Given the description of an element on the screen output the (x, y) to click on. 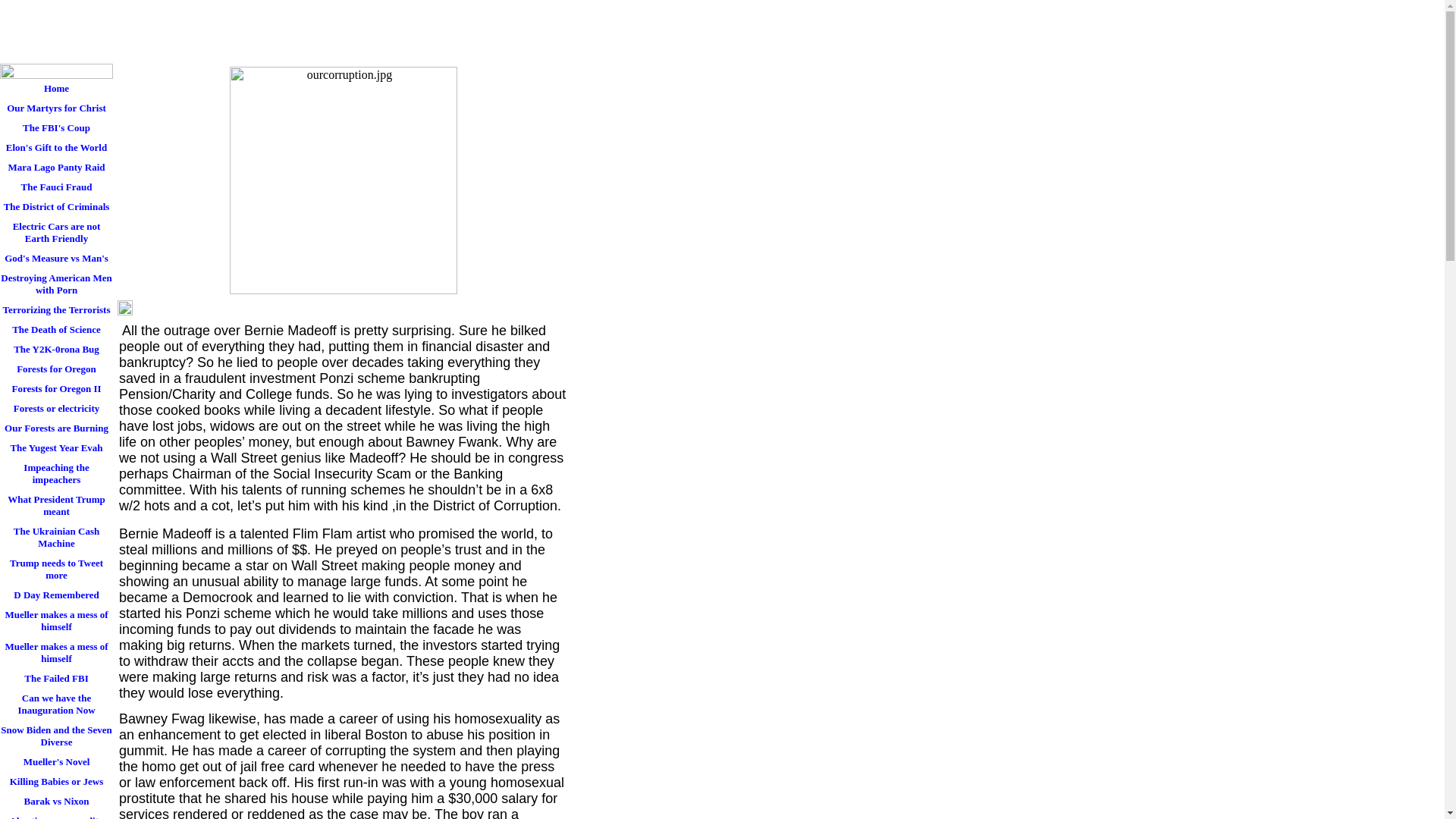
What President Trump meant (56, 505)
The FBI's Coup (56, 127)
Our Forests are Burning (56, 428)
Forests for Oregon II (56, 388)
The Death of Science (56, 329)
God's Measure vs Man's (56, 258)
Electric Cars are not Earth Friendly (56, 232)
Barak vs Nixon (56, 801)
Destroying American Men with Porn (56, 284)
Mara Lago Panty Raid (56, 167)
The Ukrainian Cash Machine (56, 537)
Forests for Oregon (56, 369)
The Yugest Year Evah (56, 447)
D Day Remembered (56, 595)
Our Martyrs for Christ (56, 107)
